Given the description of an element on the screen output the (x, y) to click on. 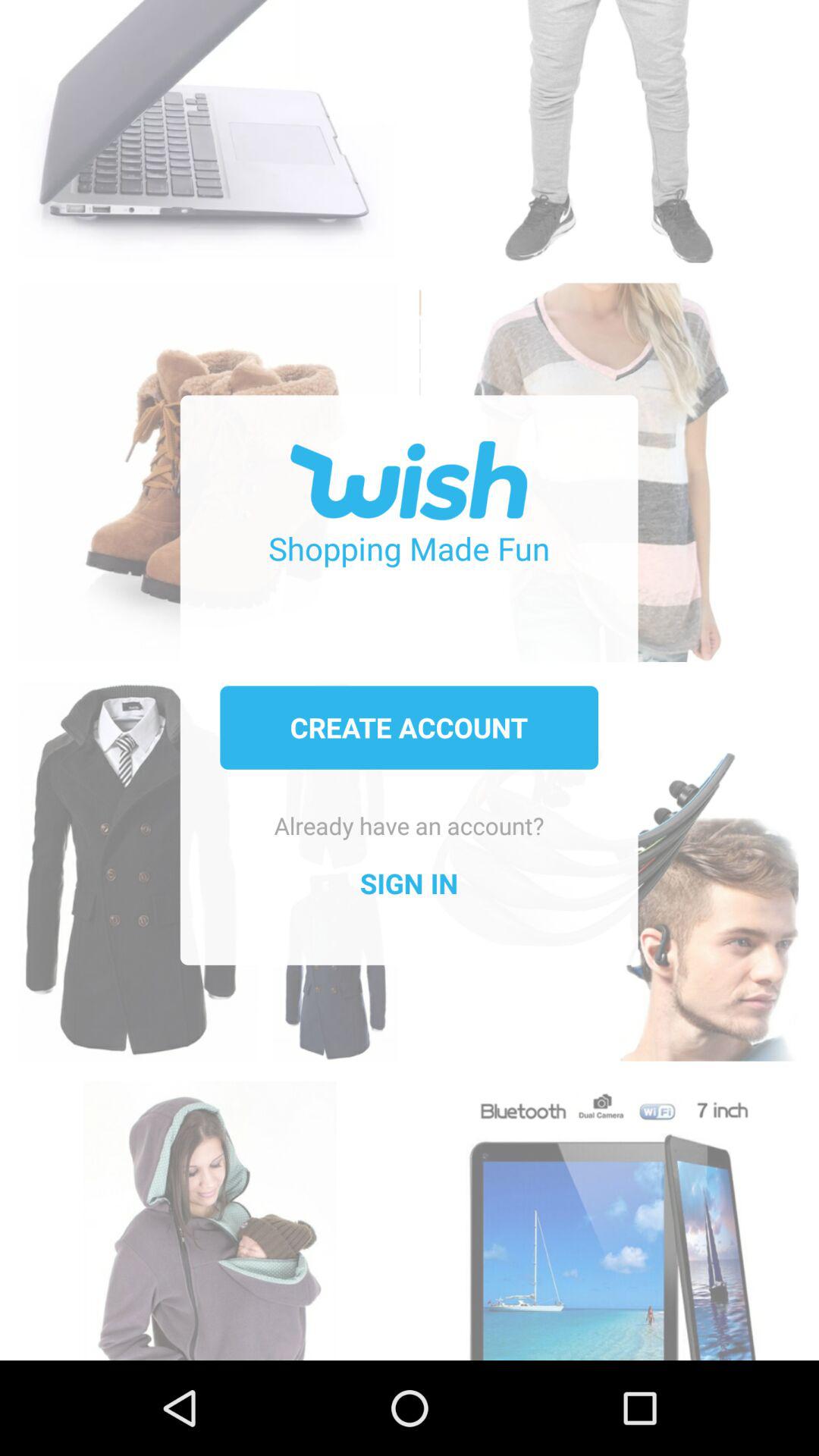
press the item at the bottom right corner (608, 1212)
